Given the description of an element on the screen output the (x, y) to click on. 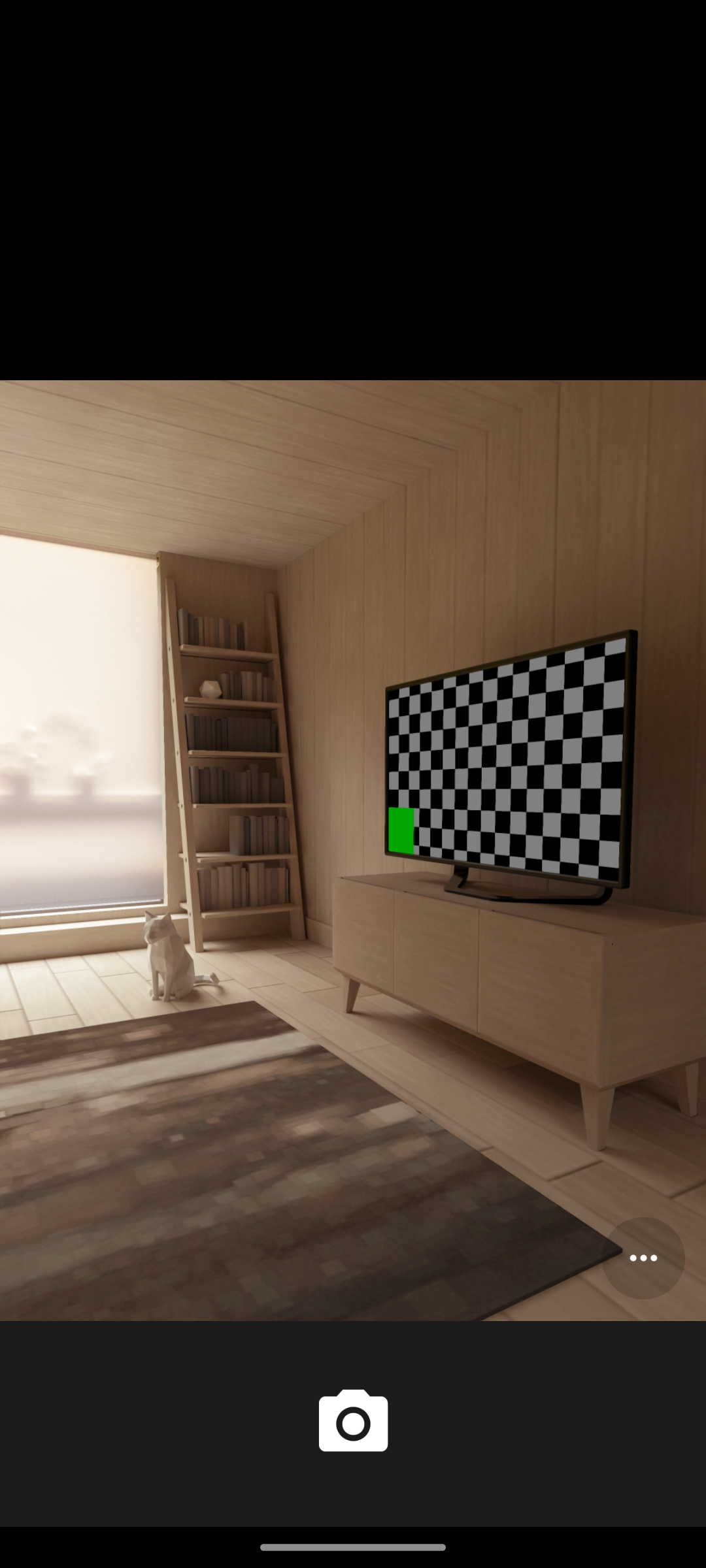
Options (643, 1257)
Shutter (353, 1423)
